Given the description of an element on the screen output the (x, y) to click on. 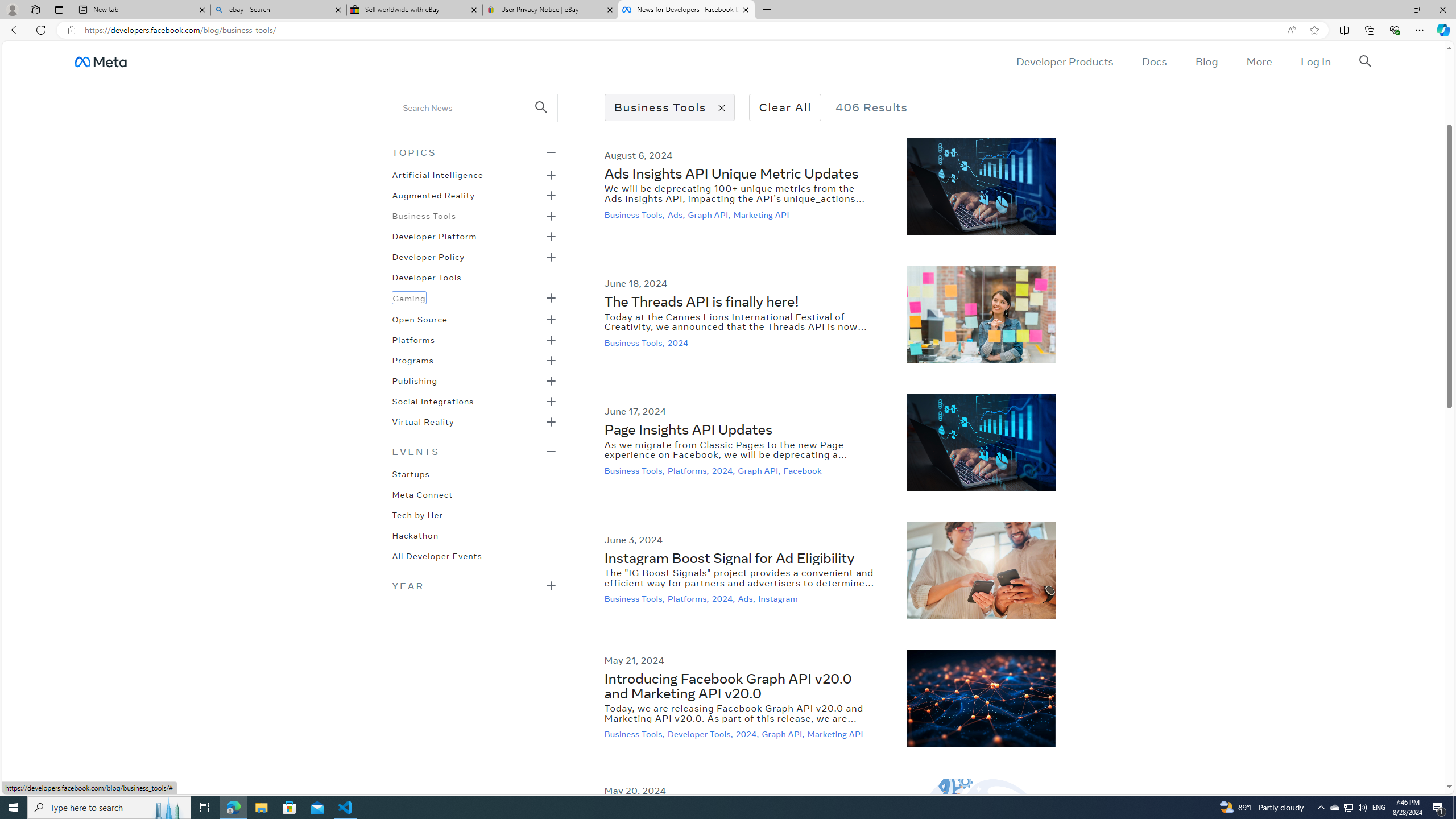
Developer Products (1064, 61)
More (1259, 61)
Log In (1315, 61)
News for Developers | Facebook Developers (685, 9)
Blog (1205, 61)
Virtual Reality (422, 420)
Class: _9890 _98ey (474, 450)
Tech by Her (416, 513)
Programs (412, 359)
Log In (1315, 61)
